Given the description of an element on the screen output the (x, y) to click on. 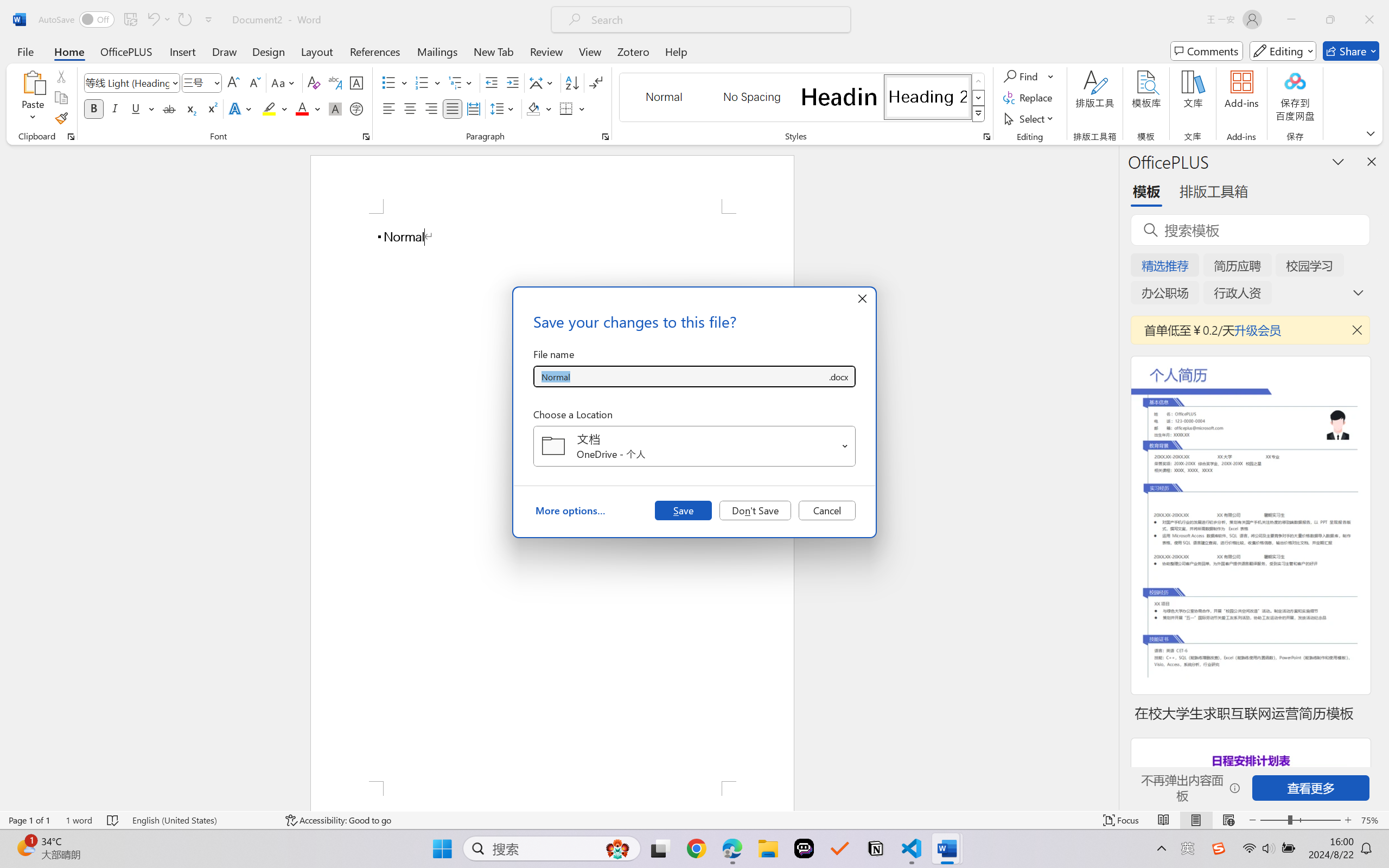
Bold (94, 108)
Undo Typing (152, 19)
Format Painter (60, 118)
Review (546, 51)
Focus  (1121, 819)
Asian Layout (542, 82)
Class: MsoCommandBar (694, 819)
View (589, 51)
Borders (566, 108)
Class: NetUIImage (978, 114)
Layout (316, 51)
